Given the description of an element on the screen output the (x, y) to click on. 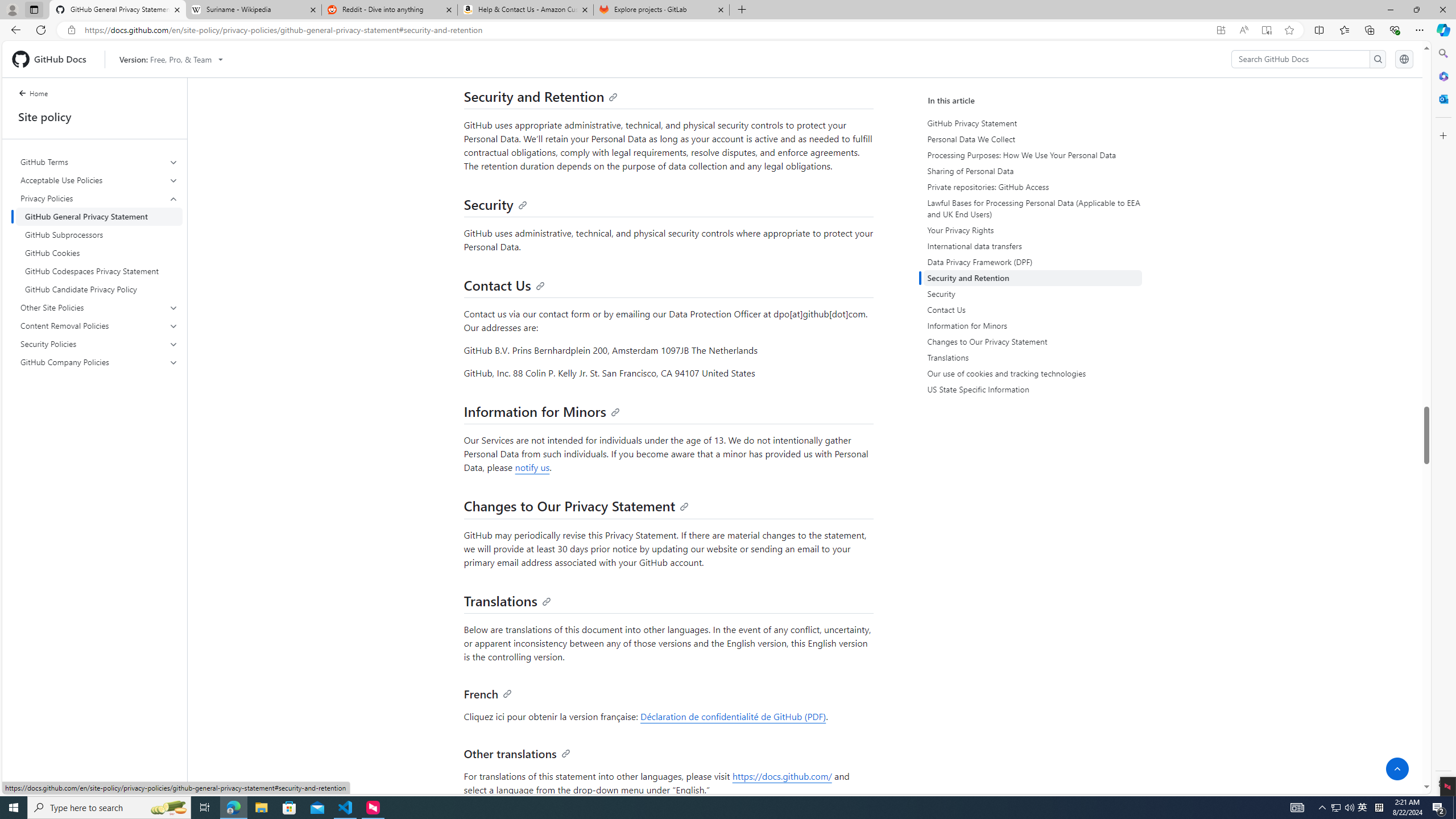
Other Site Policies (99, 307)
Sharing of Personal Data (1034, 170)
GitHub Privacy Statement (1032, 123)
US State Specific Information (1034, 389)
Privacy Policies (99, 198)
Sharing of Personal Data (1032, 170)
GitHub General Privacy Statement (99, 216)
Other Site Policies (99, 307)
Information for Minors (541, 411)
Changes to Our Privacy Statement (575, 505)
